Given the description of an element on the screen output the (x, y) to click on. 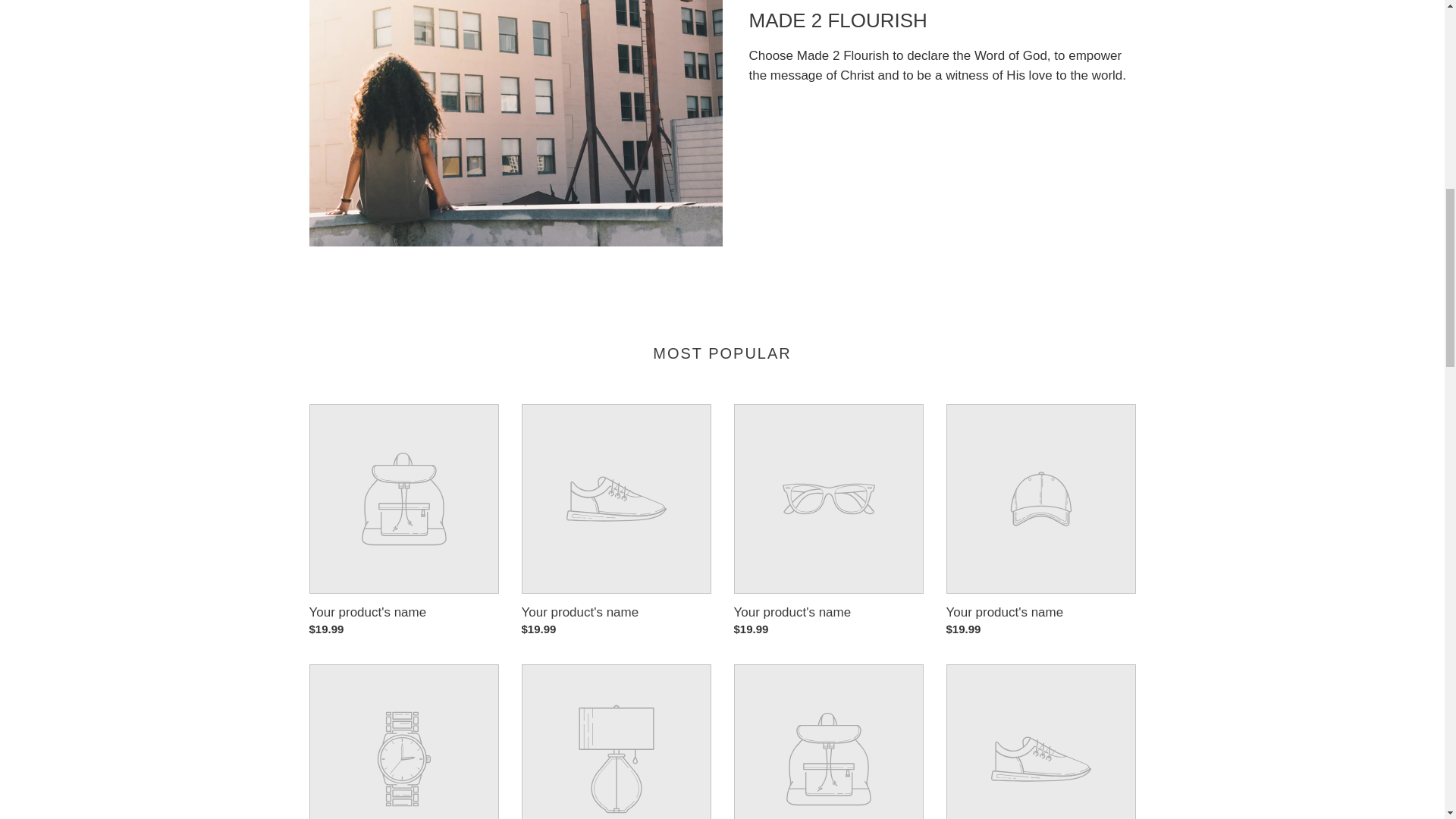
Your product's name (1040, 521)
Your product's name (403, 521)
Your product's name (616, 521)
Your product's name (828, 521)
